Given the description of an element on the screen output the (x, y) to click on. 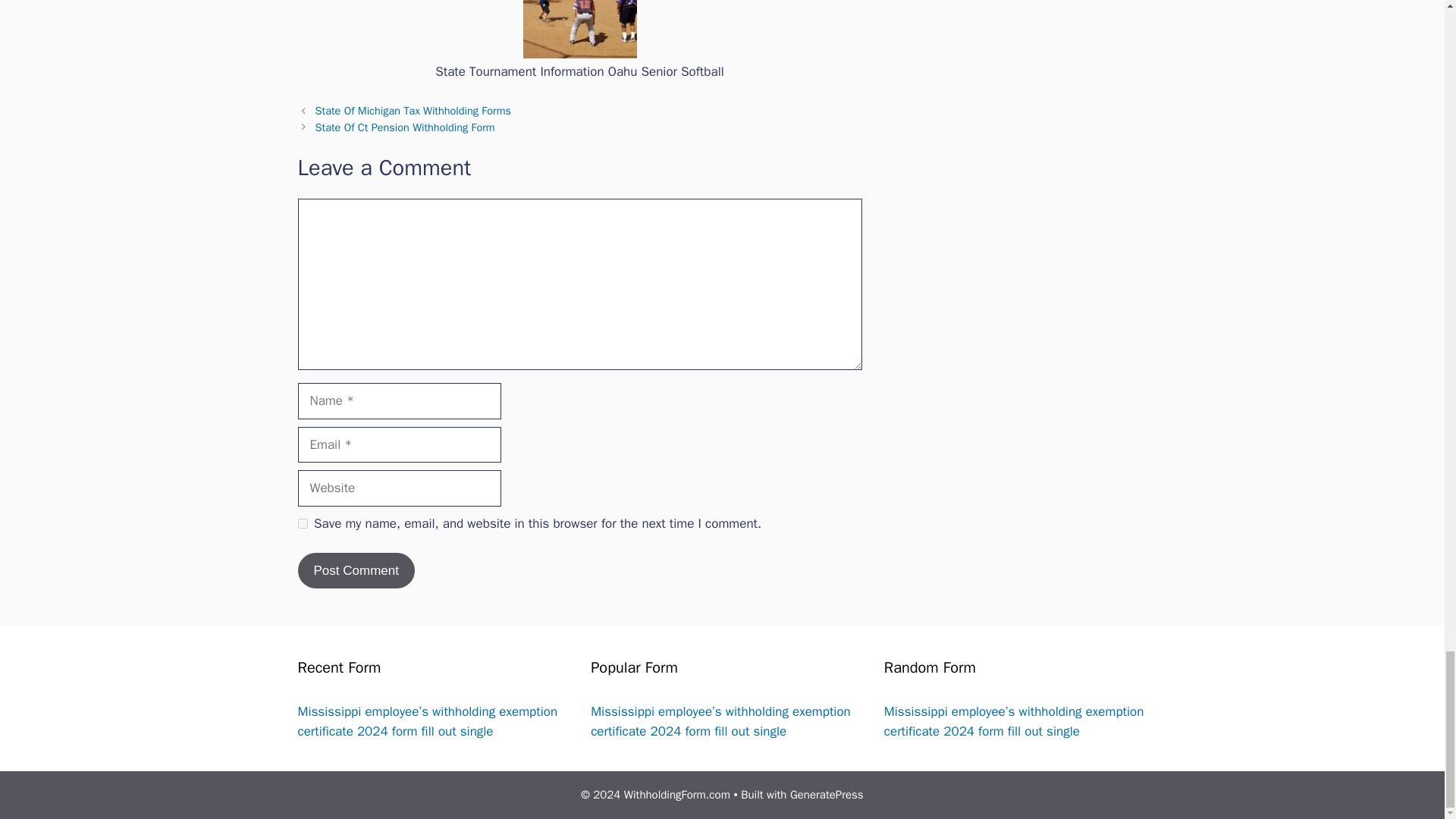
GeneratePress (826, 794)
yes (302, 523)
Post Comment (355, 570)
Post Comment (355, 570)
State Of Michigan Tax Withholding Forms (413, 110)
State Of Ct Pension Withholding Form (405, 127)
